Given the description of an element on the screen output the (x, y) to click on. 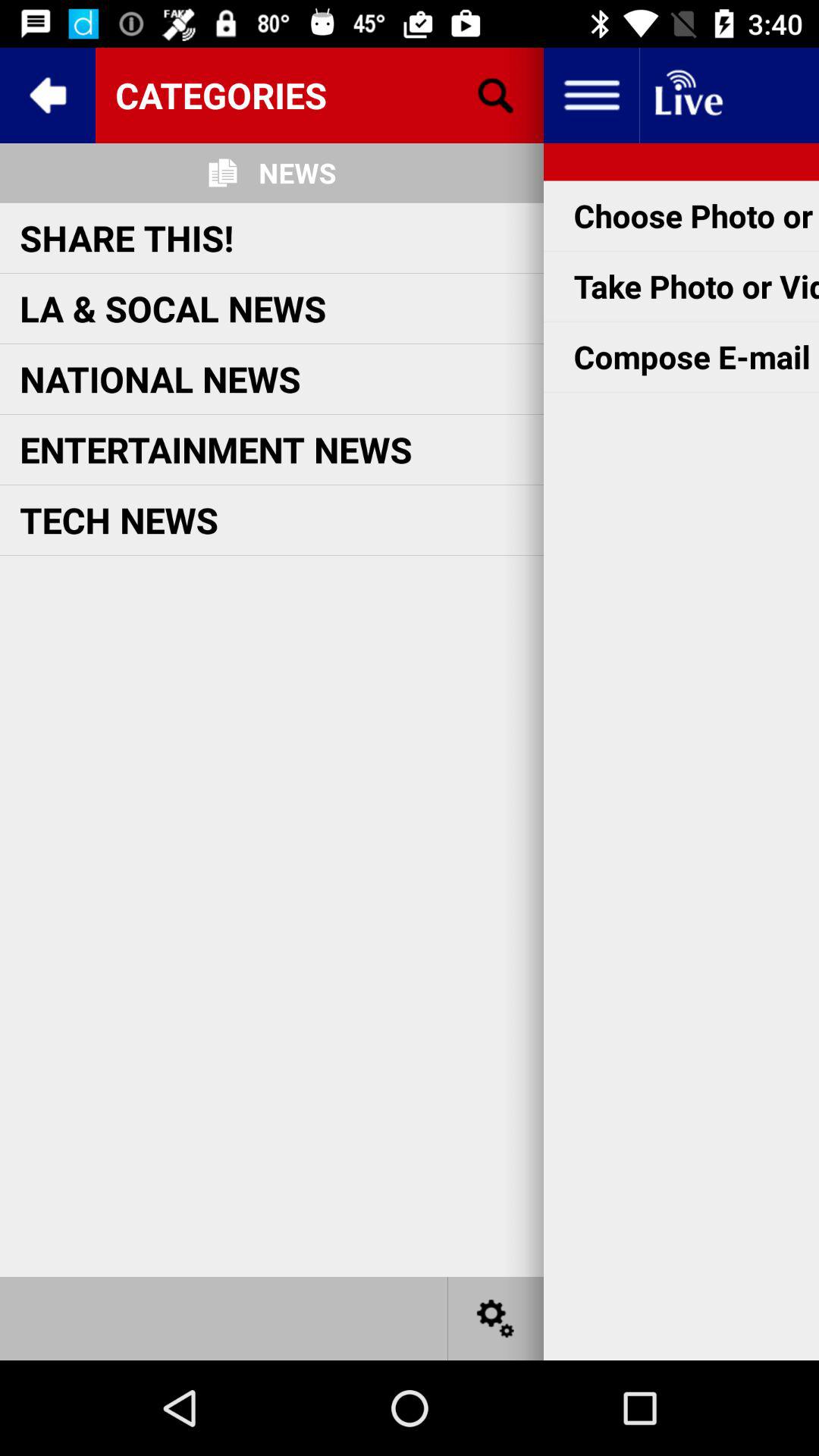
open the icon next to news icon (495, 95)
